Given the description of an element on the screen output the (x, y) to click on. 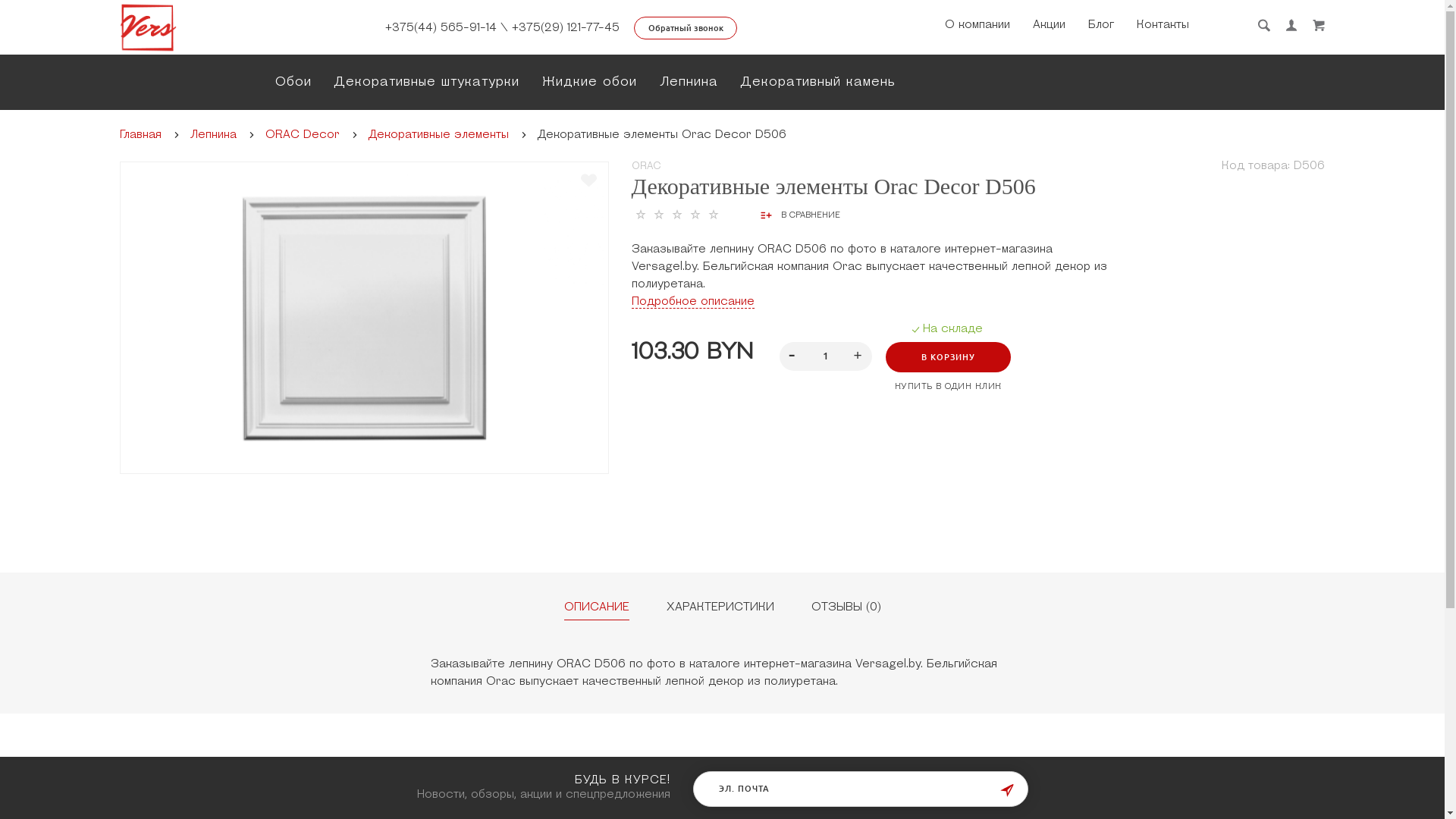
+375(29) 121-77-45 Element type: text (564, 28)
ORAC Element type: text (646, 166)
ORAC Decor Element type: text (302, 135)
+375(44) 565-91-14 Element type: text (440, 28)
